Given the description of an element on the screen output the (x, y) to click on. 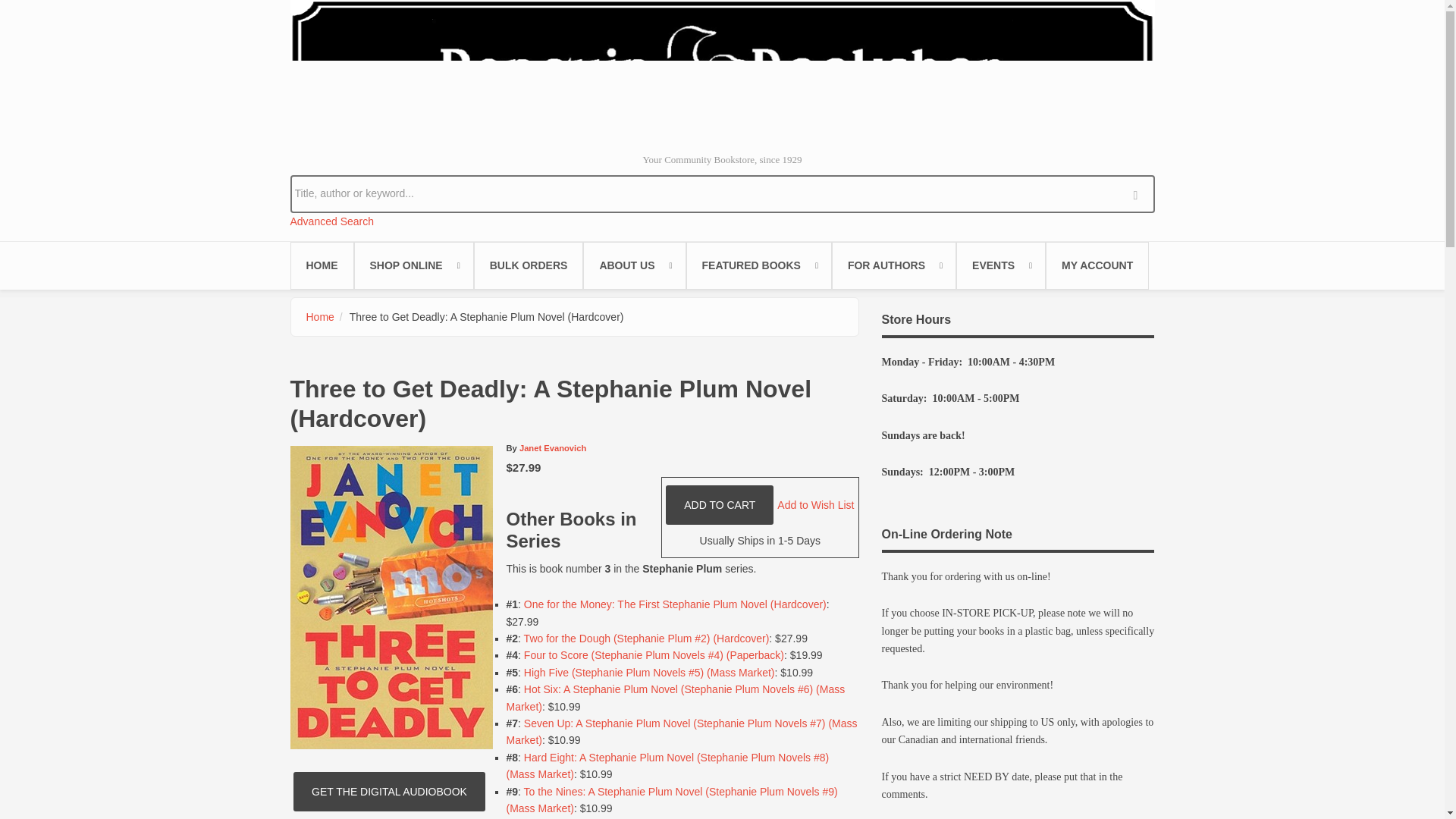
Add to Cart (719, 504)
SHOP ONLINE (413, 265)
HOME (321, 265)
Add to Cart (719, 504)
Get the Digital Audiobook (389, 791)
Self-published author information (893, 265)
EVENTS (1000, 265)
Title, author or keyword... (721, 193)
ABOUT US (634, 265)
Get the Digital Audiobook (389, 791)
Janet Evanovich (552, 447)
Home (721, 69)
search (1139, 193)
Add to Wish List (815, 504)
